Given the description of an element on the screen output the (x, y) to click on. 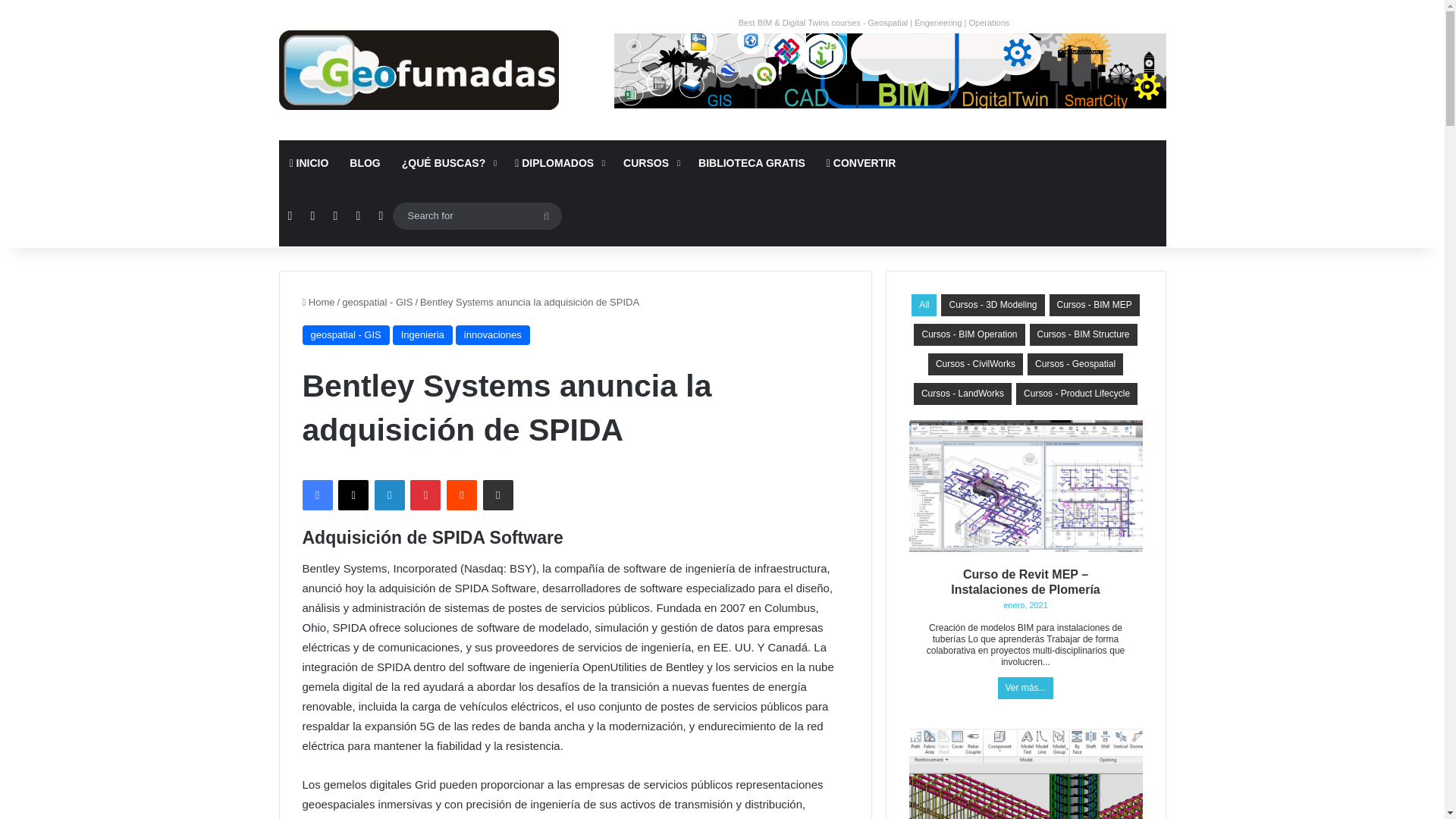
CURSOS (649, 162)
INICIO (309, 162)
BLOG (364, 162)
DIPLOMADOS (557, 162)
BIBLIOTECA GRATIS (751, 162)
CONVERTIR (860, 162)
X (352, 494)
Reddit (461, 494)
Facebook (316, 494)
Pinterest (425, 494)
Geofumadas - GIS - CAD - BIM resources (419, 69)
LinkedIn (389, 494)
Share via Email (498, 494)
Search for (477, 215)
